Given the description of an element on the screen output the (x, y) to click on. 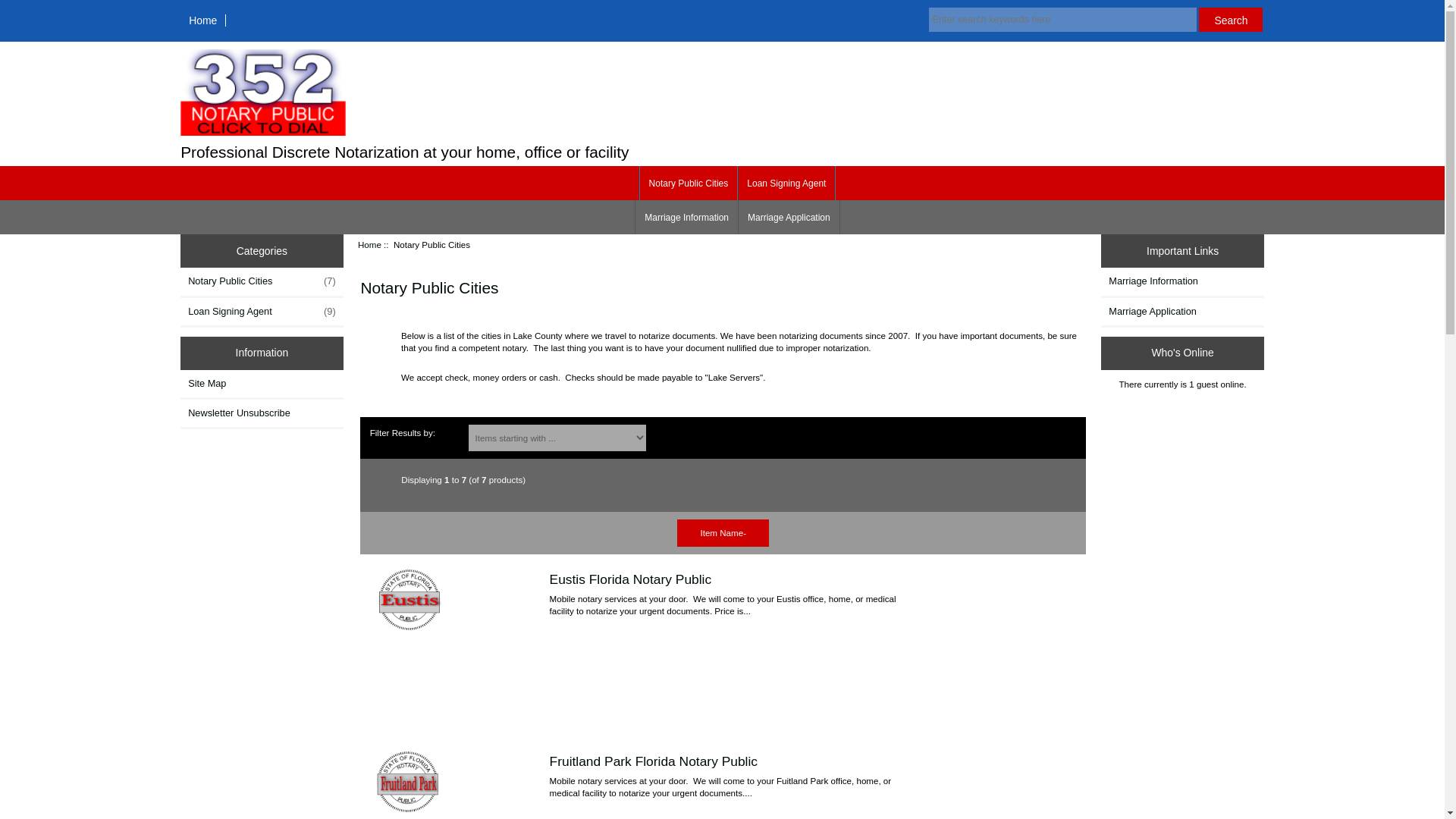
Marriage Application (789, 216)
Marriage Application (1181, 311)
Search (1230, 19)
Fruitland Park Florida Notary Public (654, 761)
Home (369, 244)
Eustis Florida Notary Public (630, 579)
Call Now (263, 132)
Loan Signing Agent (786, 182)
Newsletter Unsubscribe (261, 412)
Item Name- (722, 533)
Search (1230, 19)
Marriage Information (686, 216)
Marriage Information (1181, 280)
 Eustis Florida Notary Public  (409, 599)
